Given the description of an element on the screen output the (x, y) to click on. 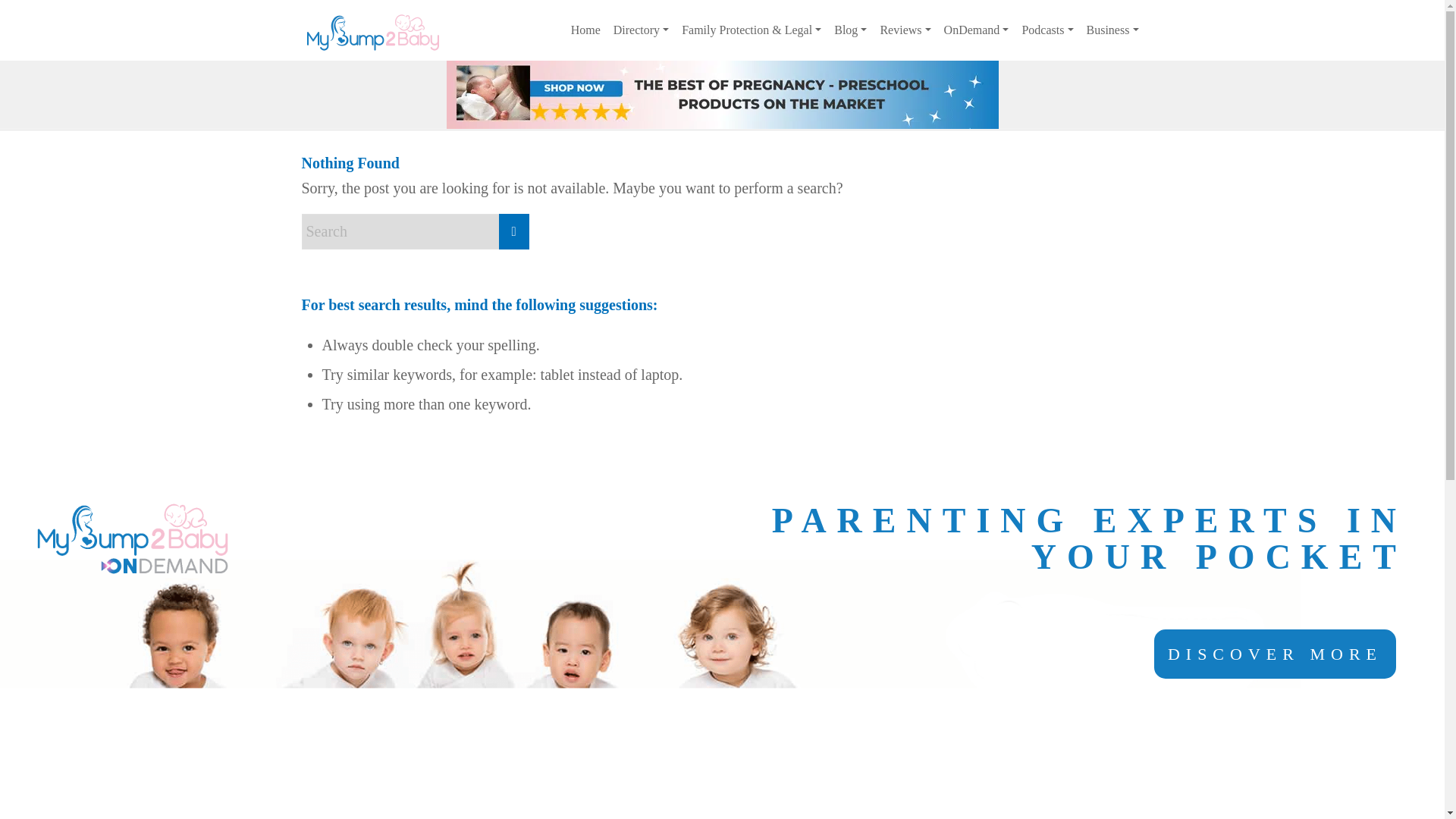
Podcasts (1046, 30)
Reviews (904, 30)
Business (1111, 30)
Directory (640, 30)
OnDemand (976, 30)
